Given the description of an element on the screen output the (x, y) to click on. 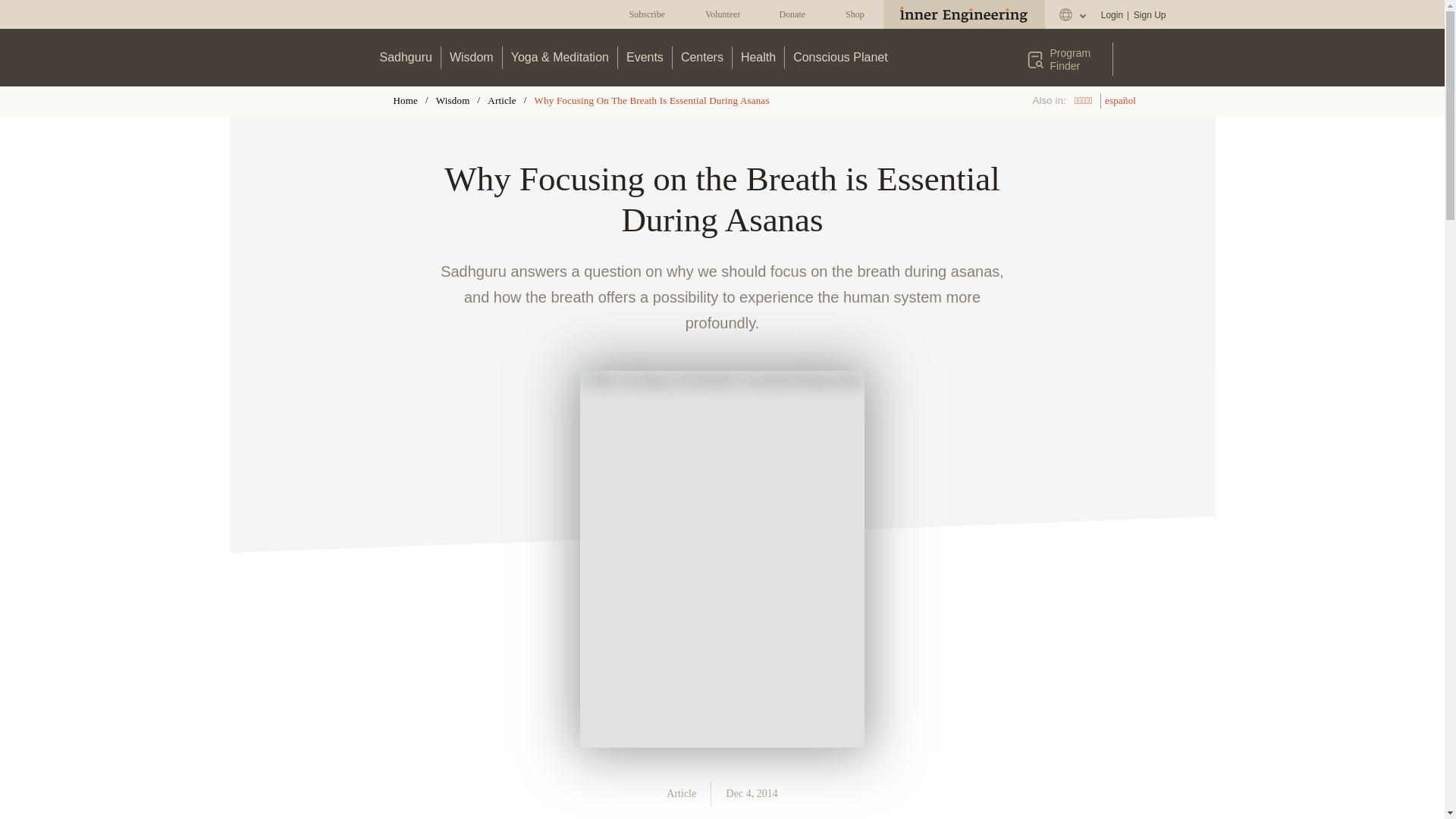
Sadhguru (406, 56)
Wisdom (471, 56)
Login (1112, 15)
Sign Up (1149, 15)
